Given the description of an element on the screen output the (x, y) to click on. 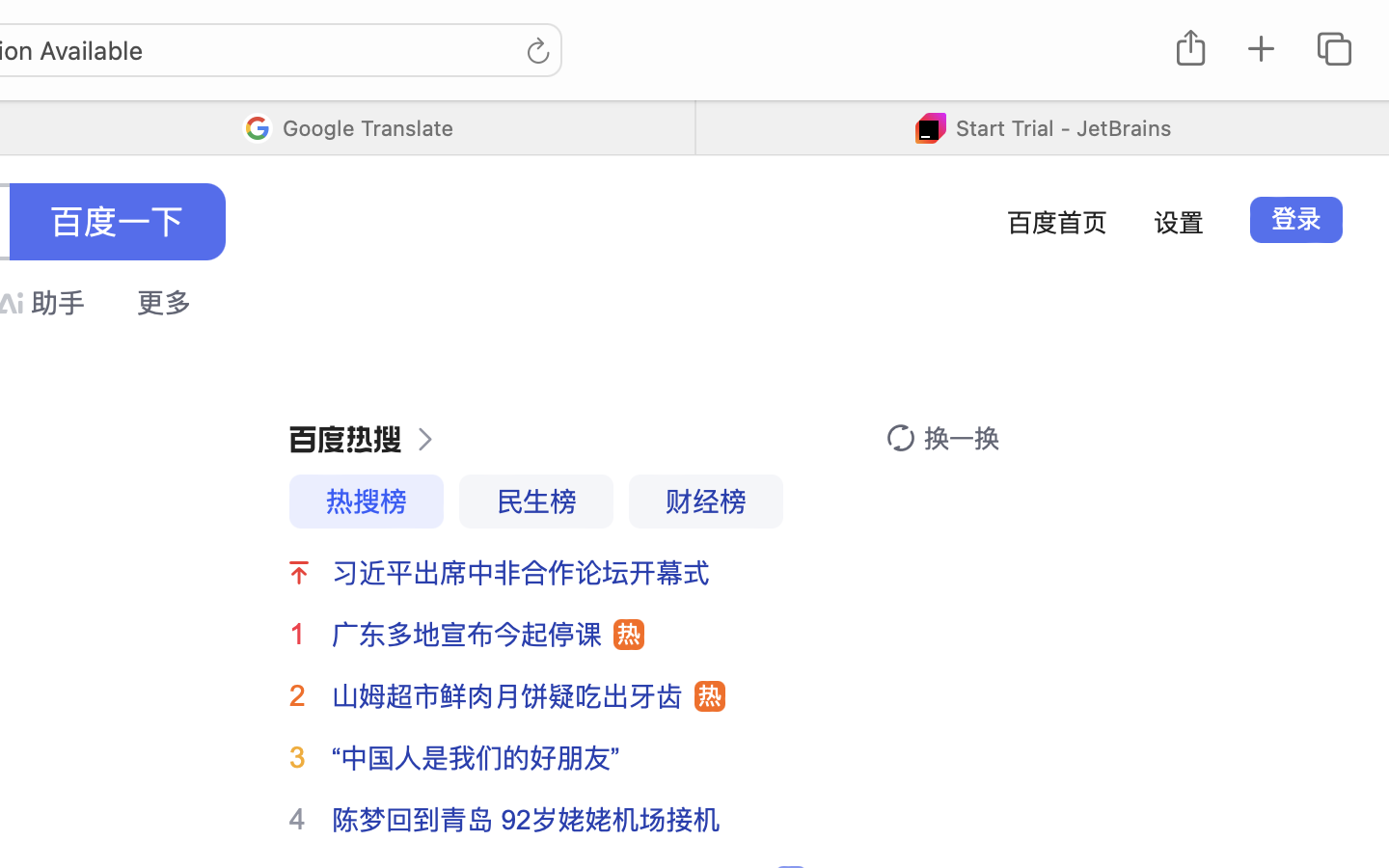
换一换 Element type: AXStaticText (961, 438)
热 Element type: AXStaticText (628, 634)
热搜榜 Element type: AXStaticText (366, 501)
1 Element type: AXStaticText (296, 633)
 Element type: AXStaticText (299, 572)
